Given the description of an element on the screen output the (x, y) to click on. 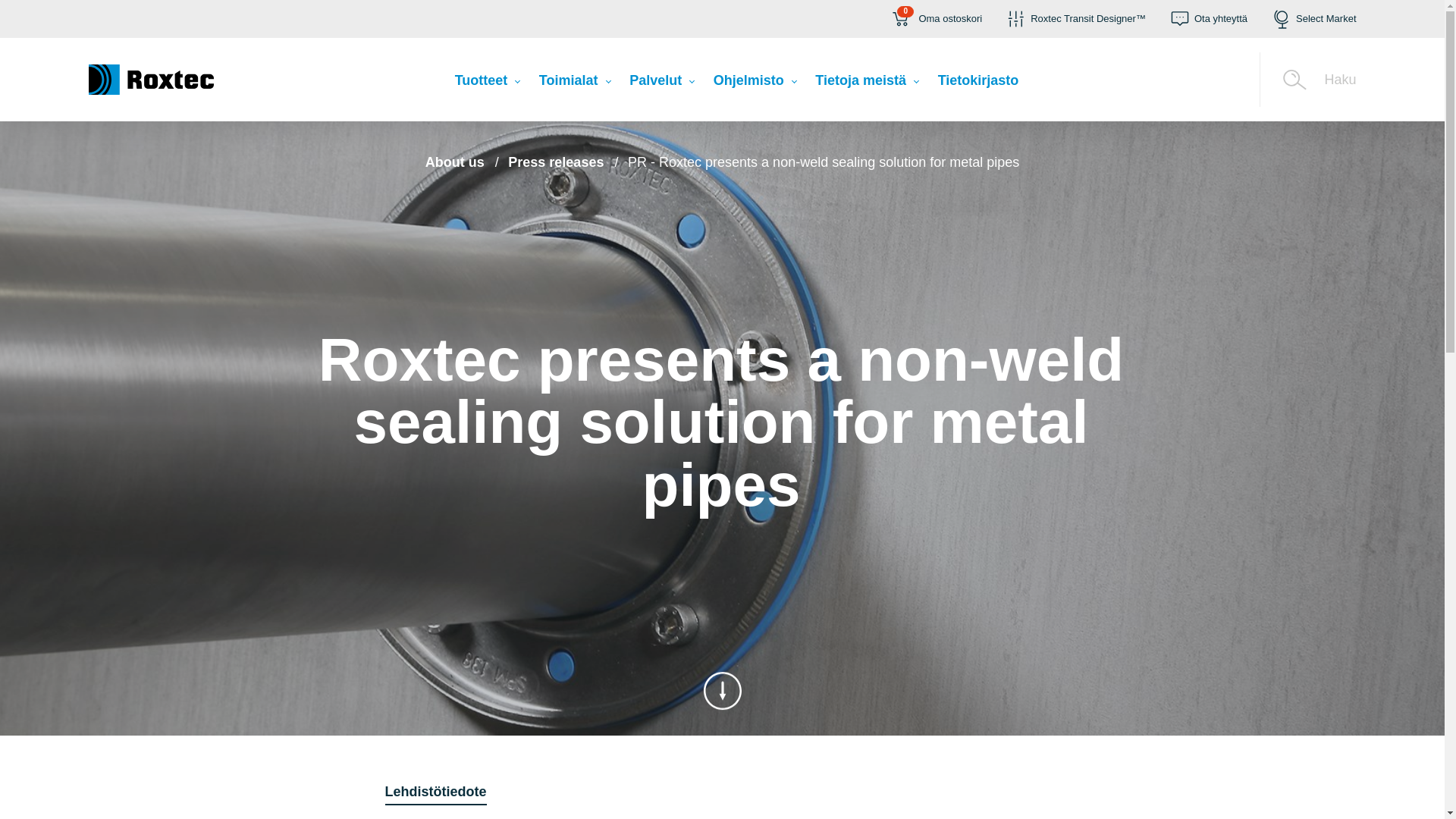
Haku (934, 18)
Tietokirjasto (1307, 79)
Tuotteet (978, 83)
Toimialat (486, 83)
Ohjelmisto (574, 83)
Palvelut (754, 83)
Select Market (661, 83)
